Given the description of an element on the screen output the (x, y) to click on. 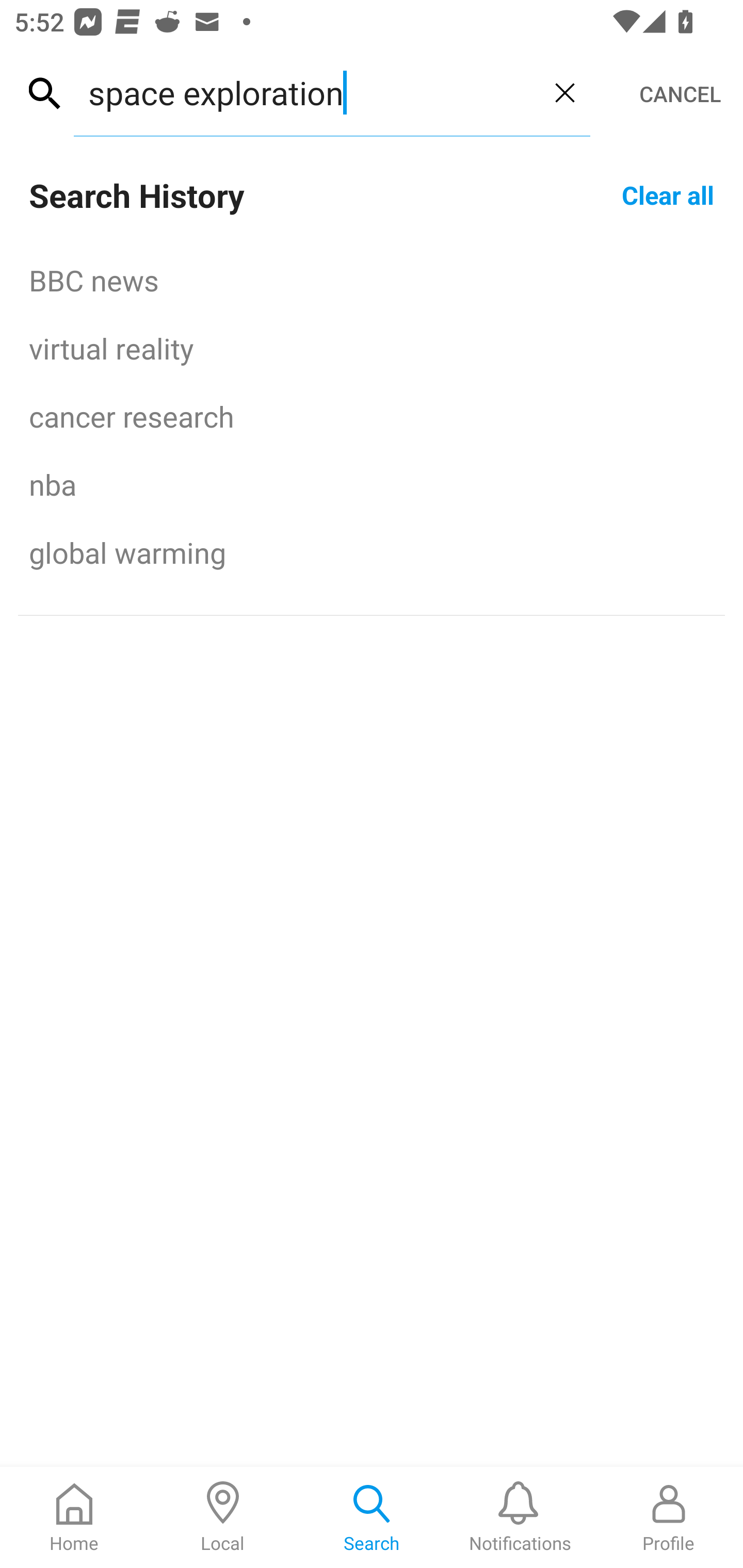
Clear query (564, 92)
CANCEL (680, 93)
space exploration (306, 92)
Clear all (667, 194)
BBC news (371, 279)
virtual reality (371, 347)
cancer research (371, 416)
nba (371, 484)
global warming (371, 552)
Home (74, 1517)
Local (222, 1517)
Notifications (519, 1517)
Profile (668, 1517)
